Given the description of an element on the screen output the (x, y) to click on. 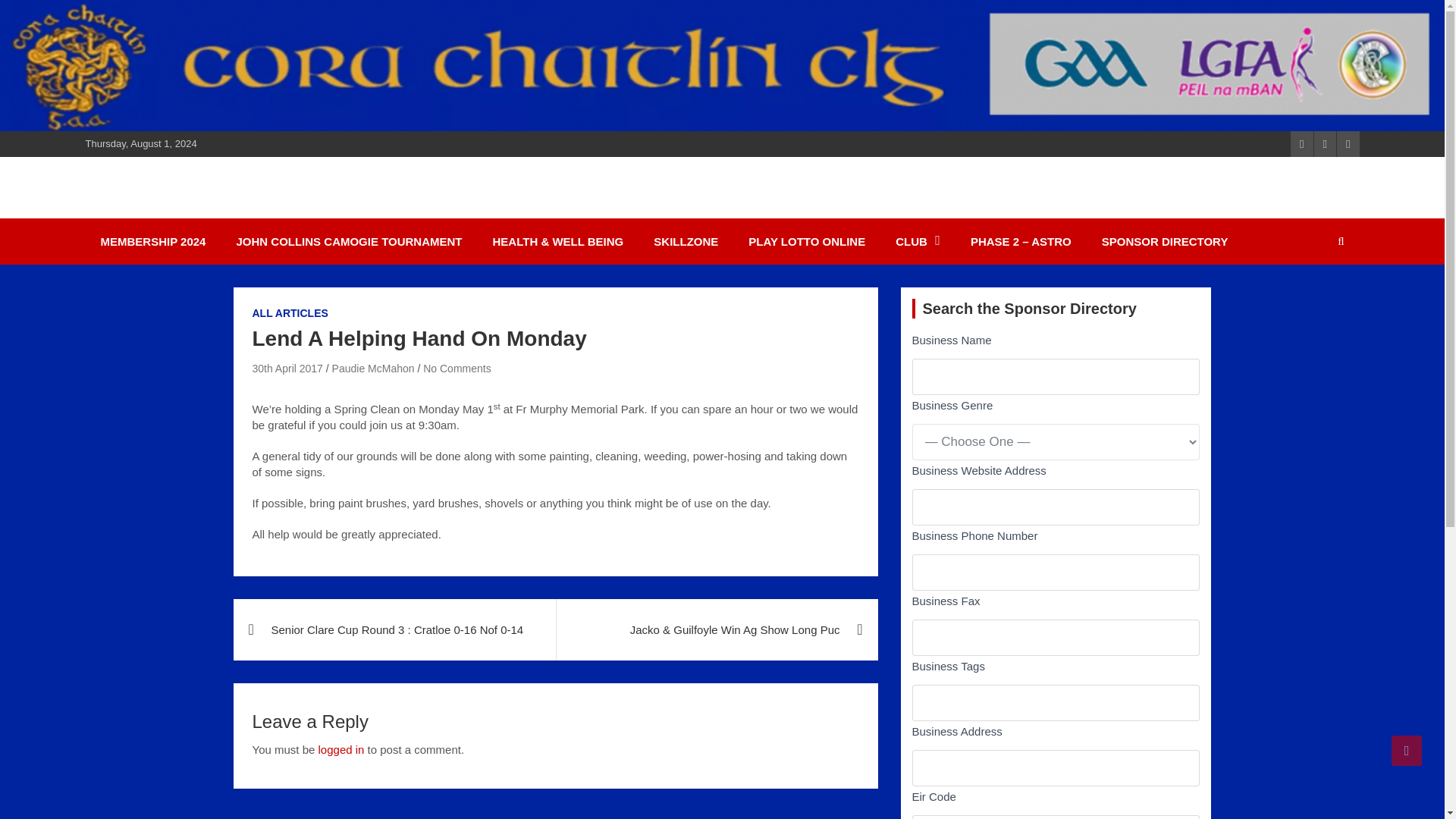
PLAY LOTTO ONLINE (806, 241)
Paudie McMahon (372, 368)
Senior Clare Cup Round 3 : Cratloe 0-16 Nof 0-14 (394, 629)
logged in (341, 748)
SPONSOR DIRECTORY (1164, 241)
SKILLZONE (686, 241)
No Comments (456, 368)
ALL ARTICLES (289, 313)
30th April 2017 (286, 368)
Lend A Helping Hand On Monday (286, 368)
CLUB (917, 241)
MEMBERSHIP 2024 (152, 241)
JOHN COLLINS CAMOGIE TOURNAMENT (349, 241)
